Given the description of an element on the screen output the (x, y) to click on. 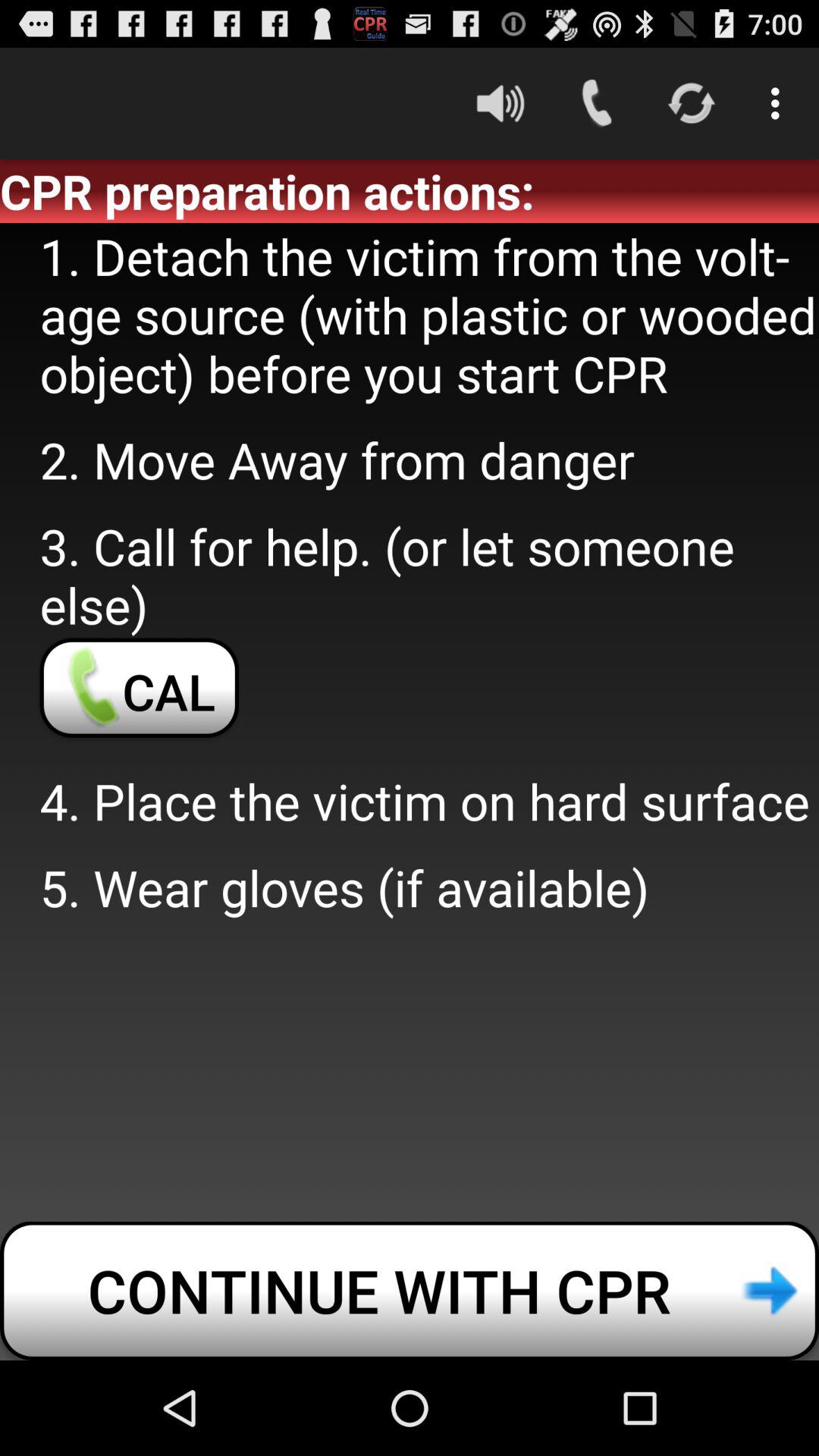
launch the icon above cpr preparation actions: icon (779, 103)
